Given the description of an element on the screen output the (x, y) to click on. 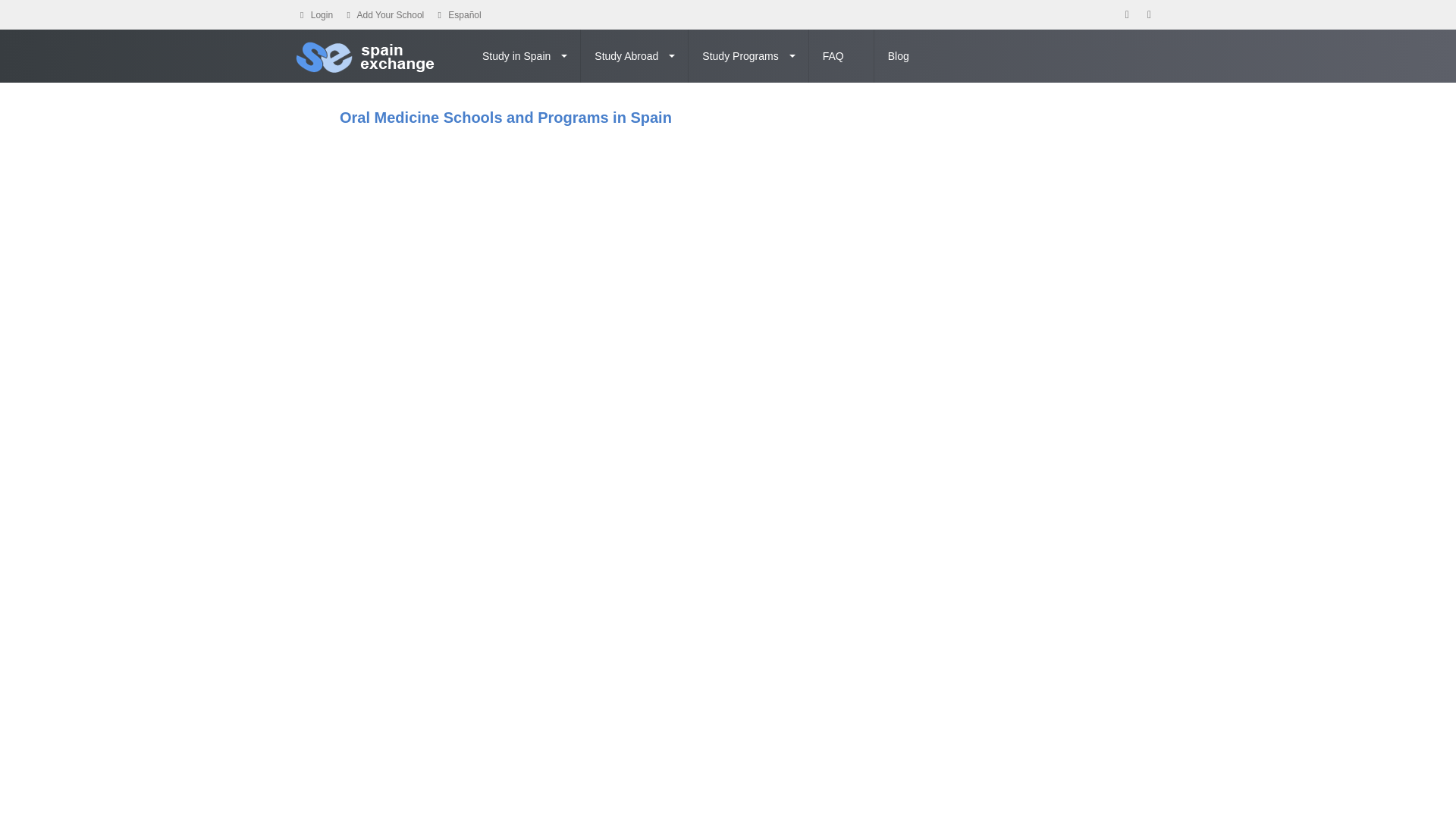
Study in Spain (524, 55)
Login (322, 14)
Study Programs (748, 55)
Study Abroad (634, 55)
Add Your School (390, 14)
